Given the description of an element on the screen output the (x, y) to click on. 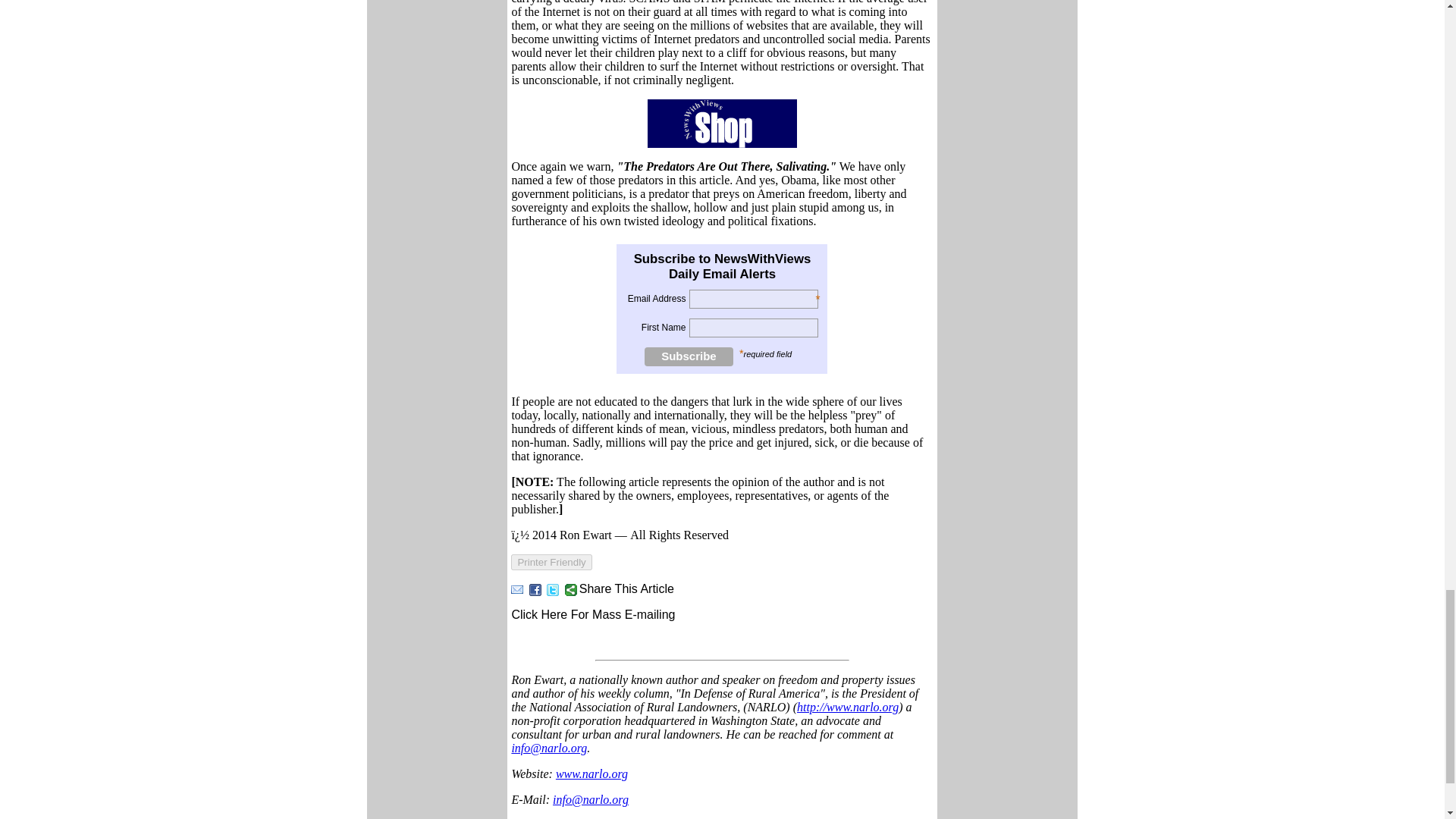
Share This Article (619, 588)
Subscribe (689, 356)
Subscribe (689, 356)
Printer Friendly (551, 562)
Click Here For Mass E-mailing (593, 614)
www.narlo.org (591, 773)
